Given the description of an element on the screen output the (x, y) to click on. 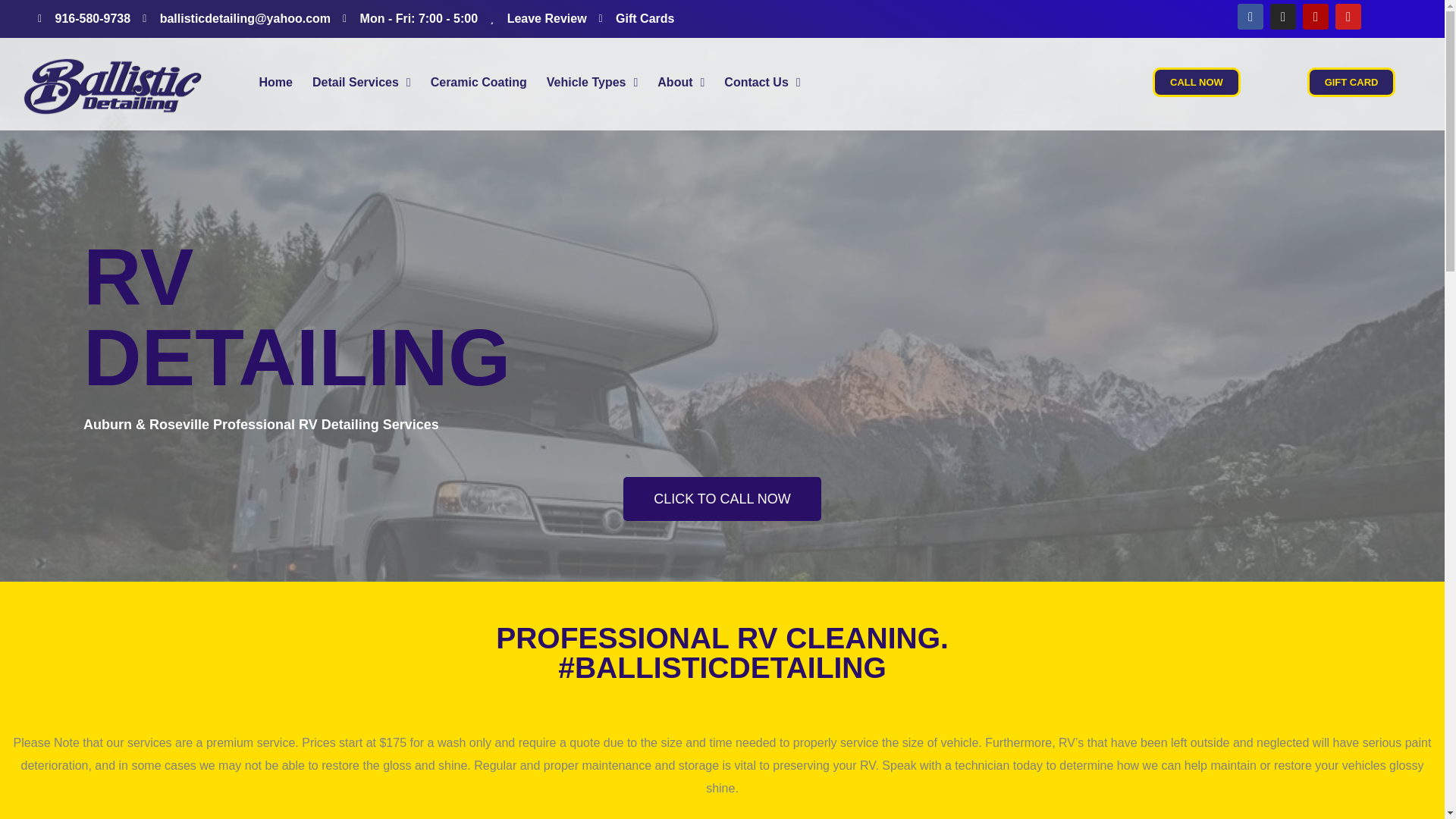
Instagram (1282, 16)
Youtube (1348, 16)
Vehicle Types (592, 82)
Leave Review (537, 18)
Facebook (1250, 16)
Yelp (1315, 16)
Home (275, 82)
Detail Services (361, 82)
Contact Us (761, 82)
Ceramic Coating (478, 82)
Gift Cards (636, 18)
916-580-9738 (84, 18)
About (680, 82)
